Given the description of an element on the screen output the (x, y) to click on. 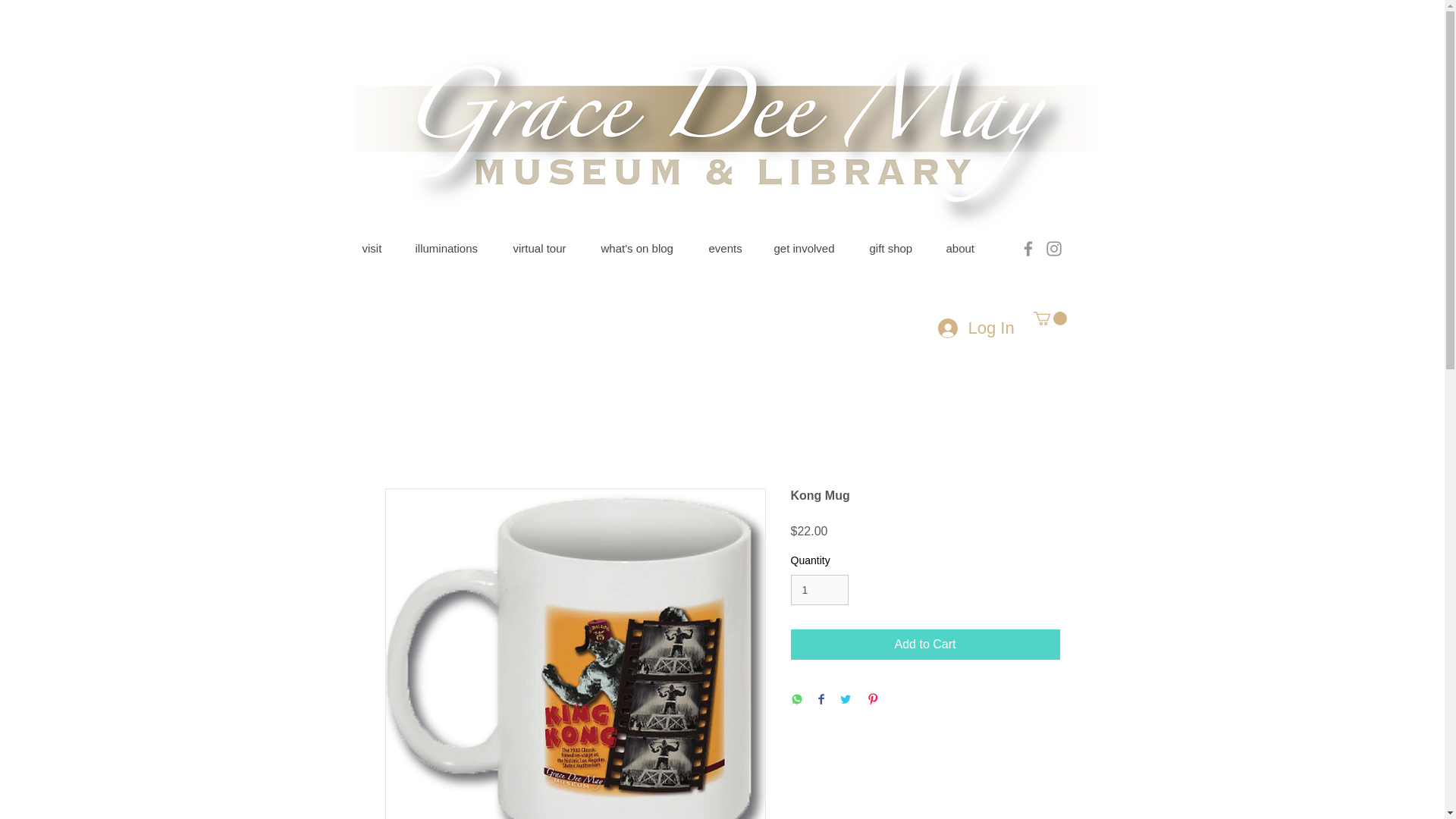
1 (818, 590)
